Given the description of an element on the screen output the (x, y) to click on. 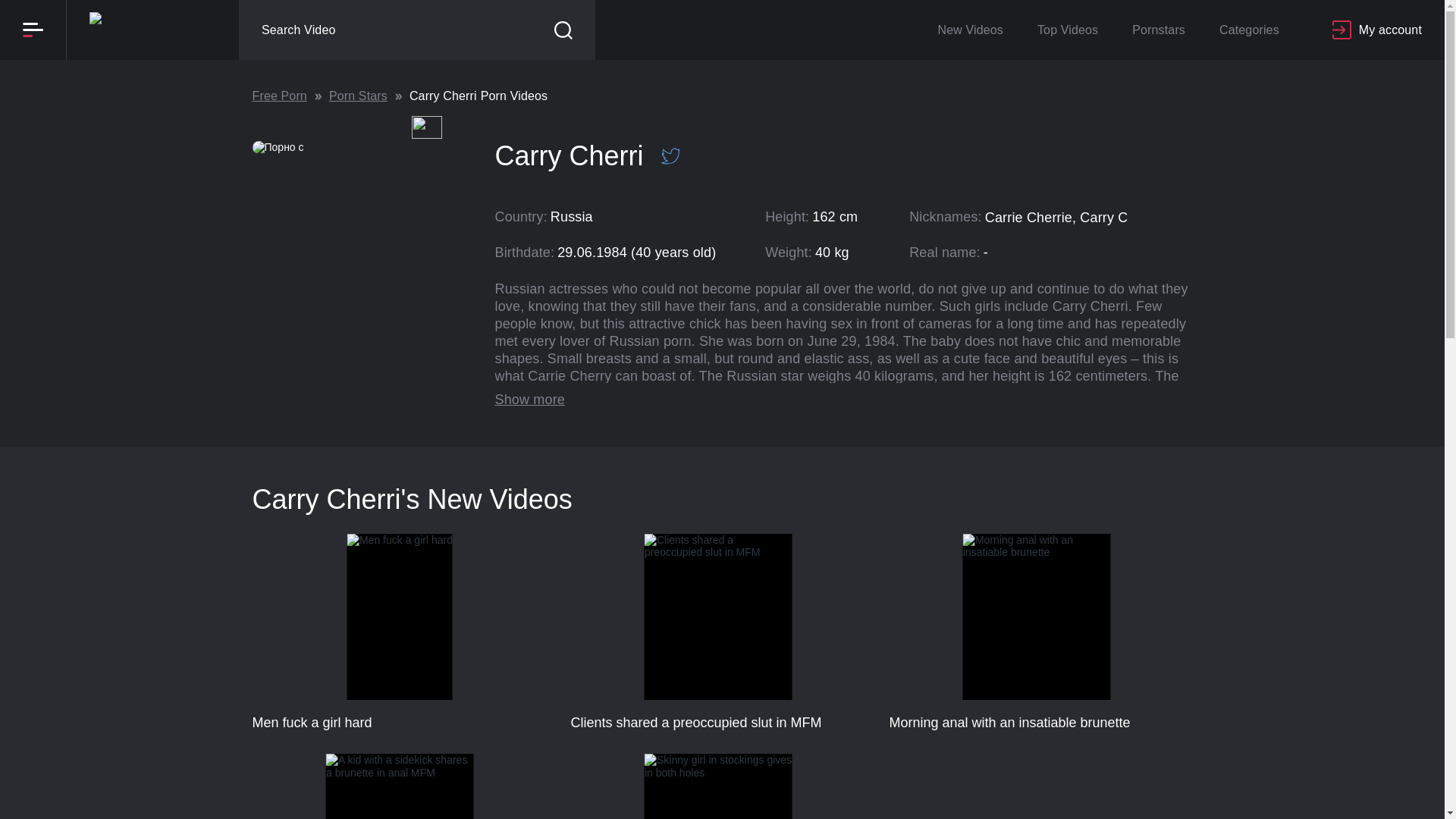
Men fuck a girl hard (399, 632)
Skinny girl in stockings gives in both holes (718, 786)
New Videos (969, 29)
Skinny girl in stockings gives in both holes (718, 786)
A kid with a sidekick shares a brunette in anal MFM (721, 114)
Pornstars (399, 786)
Men fuck a girl hard (1157, 29)
Morning anal with an insatiable brunette (399, 632)
Top Videos (1036, 632)
A kid with a sidekick shares a brunette in anal MFM (1067, 29)
My account (399, 786)
Clients shared a preoccupied slut in MFM (1377, 29)
Morning anal with an insatiable brunette (718, 632)
Categories (1036, 632)
